Given the description of an element on the screen output the (x, y) to click on. 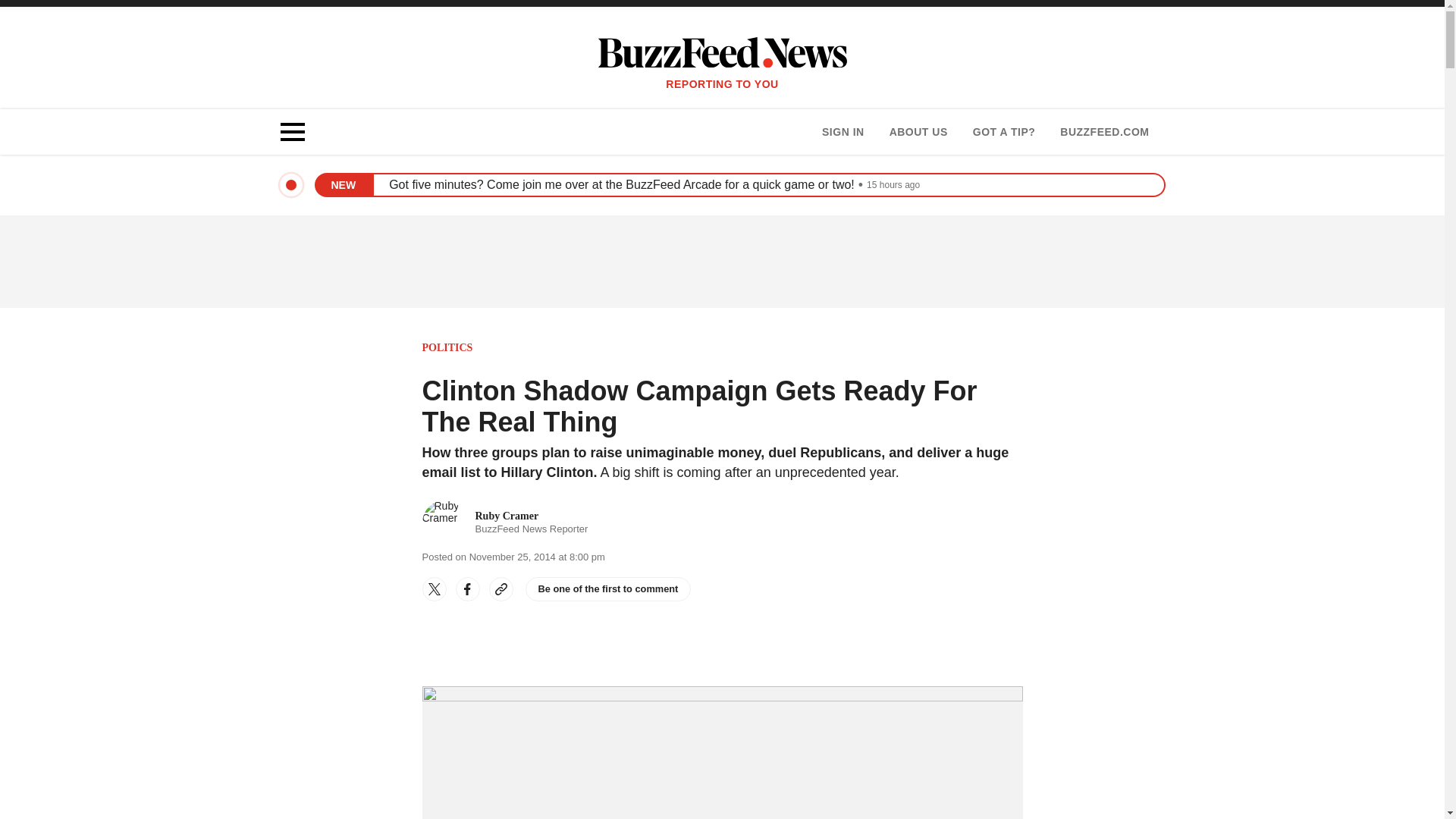
POLITICS (446, 347)
ABOUT US (917, 131)
Be one of the first to comment (607, 589)
GOT A TIP? (1003, 131)
BUZZFEED.COM (1103, 131)
SIGN IN (505, 522)
